Given the description of an element on the screen output the (x, y) to click on. 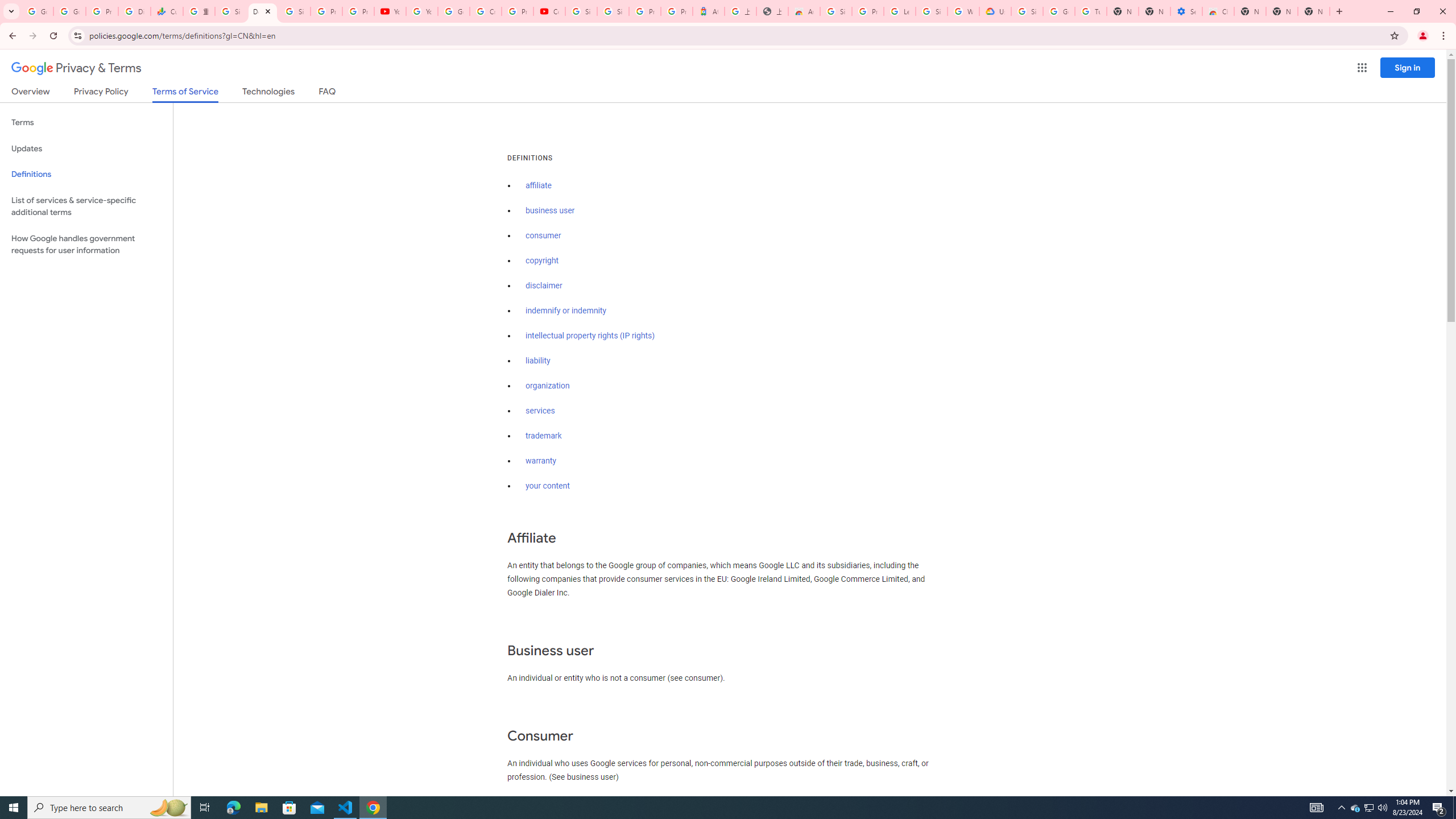
Chrome Web Store - Accessibility extensions (1217, 11)
Google Account Help (1059, 11)
trademark (543, 435)
affiliate (538, 185)
intellectual property rights (IP rights) (590, 335)
services (539, 411)
Privacy Checkup (358, 11)
warranty (540, 461)
Sign in - Google Accounts (230, 11)
